Given the description of an element on the screen output the (x, y) to click on. 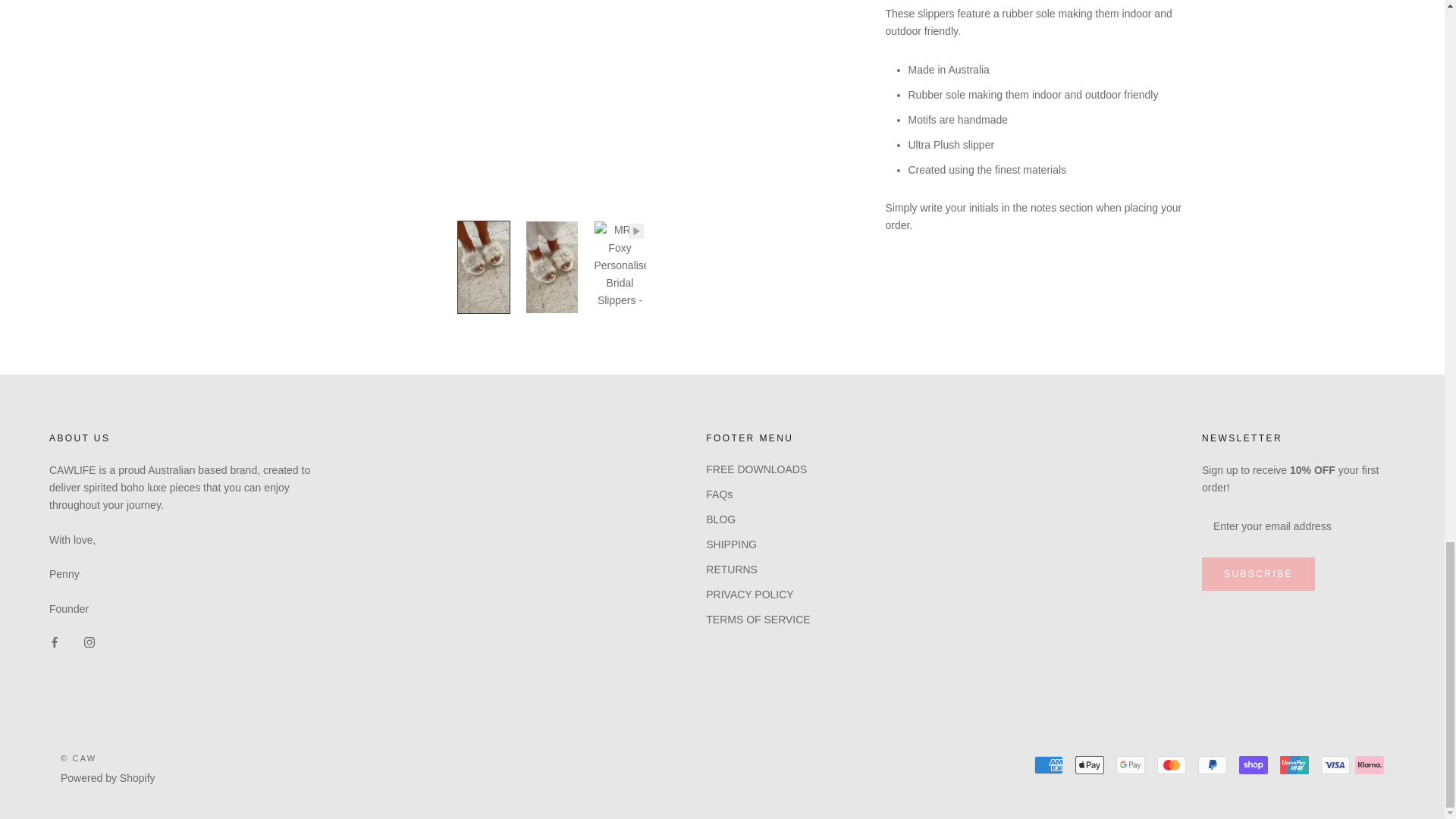
Visa (1334, 764)
Klarna (1369, 764)
Apple Pay (1089, 764)
PayPal (1212, 764)
Shop Pay (1253, 764)
Union Pay (1293, 764)
American Express (1047, 764)
Mastercard (1171, 764)
Google Pay (1130, 764)
